Given the description of an element on the screen output the (x, y) to click on. 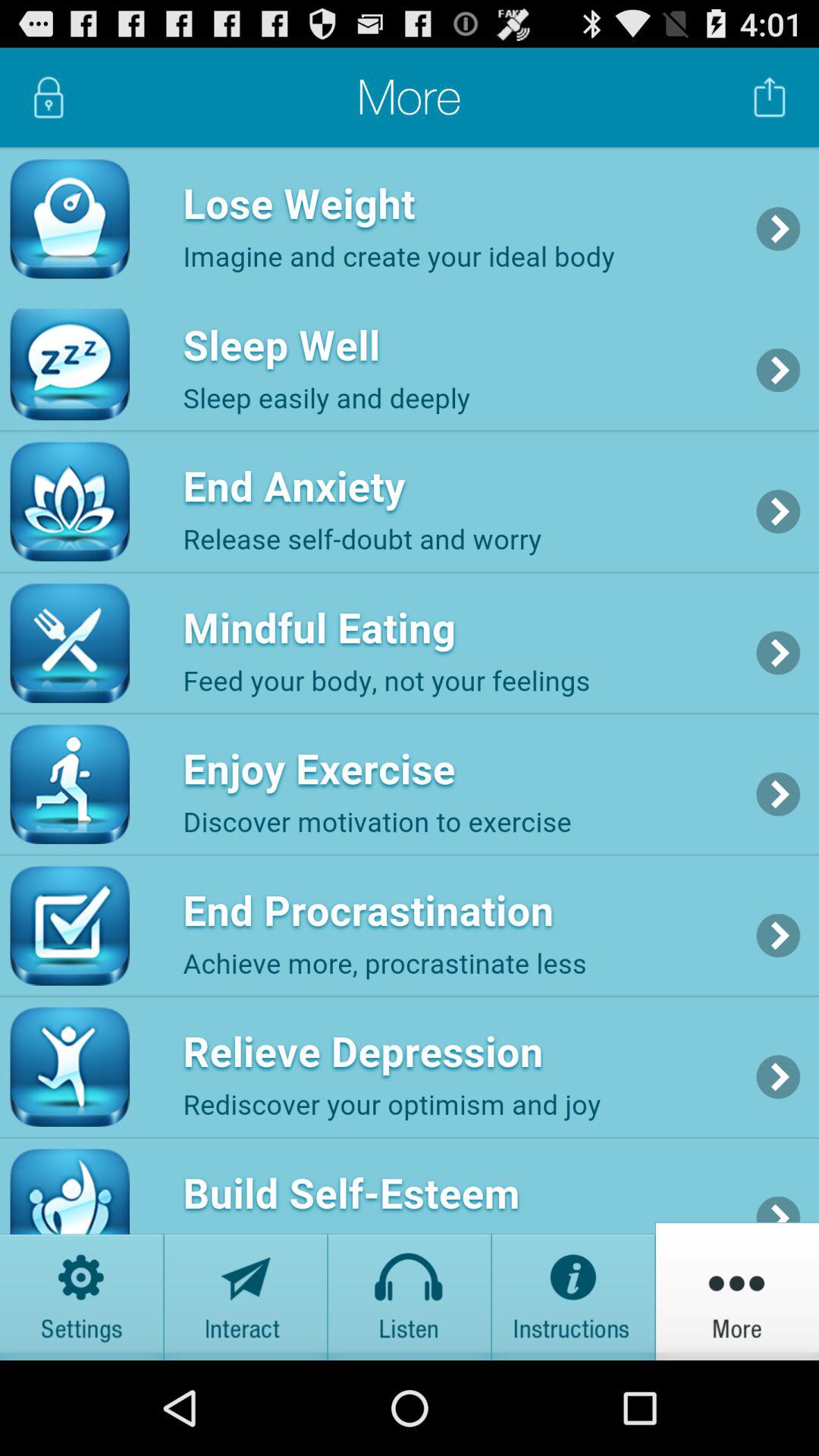
click on listen (409, 1290)
